Given the description of an element on the screen output the (x, y) to click on. 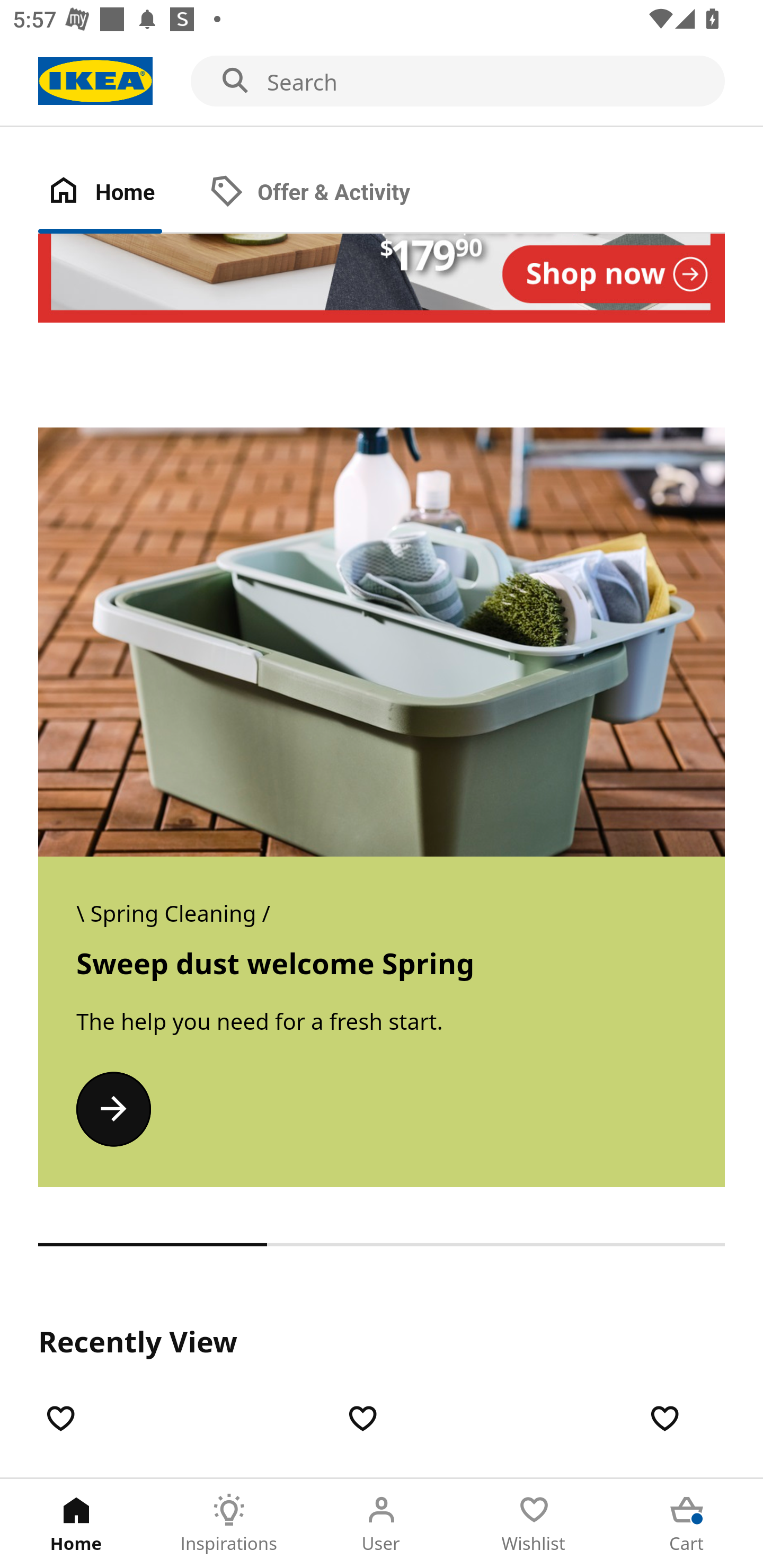
Search (381, 81)
Home
Tab 1 of 2 (118, 192)
Offer & Activity
Tab 2 of 2 (327, 192)
Home
Tab 1 of 5 (76, 1522)
Inspirations
Tab 2 of 5 (228, 1522)
User
Tab 3 of 5 (381, 1522)
Wishlist
Tab 4 of 5 (533, 1522)
Cart
Tab 5 of 5 (686, 1522)
